Given the description of an element on the screen output the (x, y) to click on. 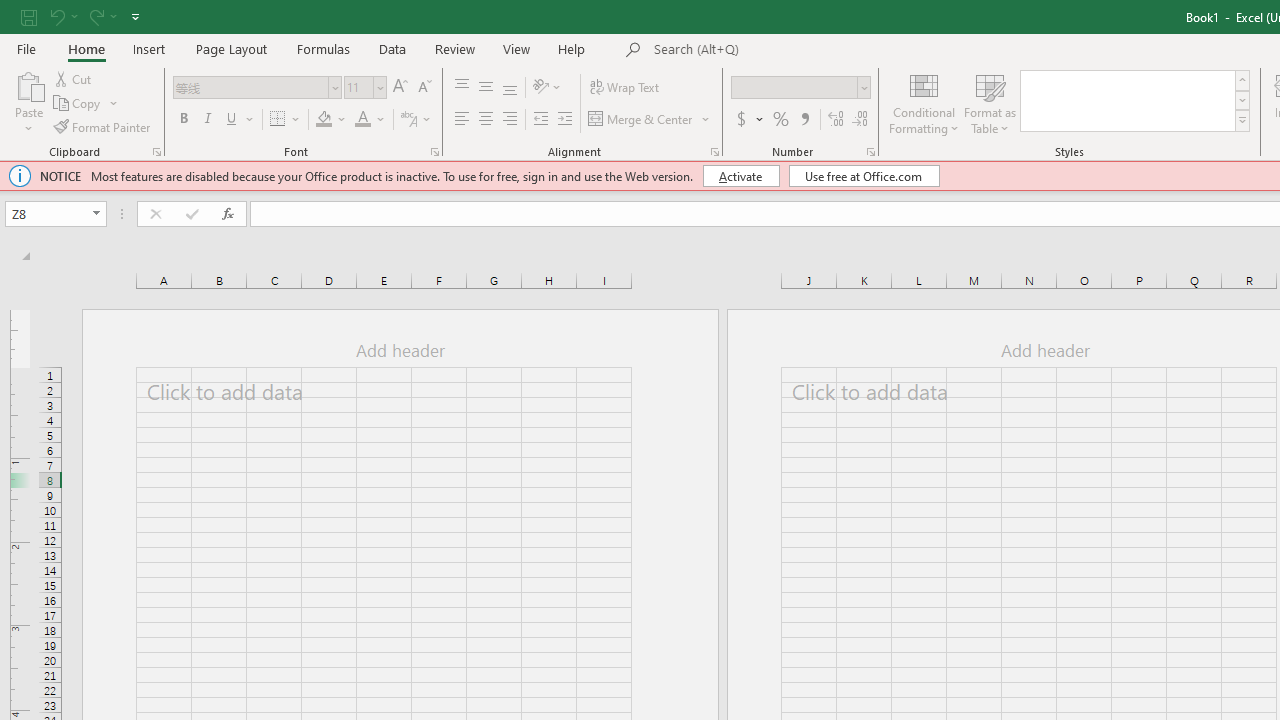
Cell Styles (1242, 120)
Office Clipboard... (156, 151)
